Given the description of an element on the screen output the (x, y) to click on. 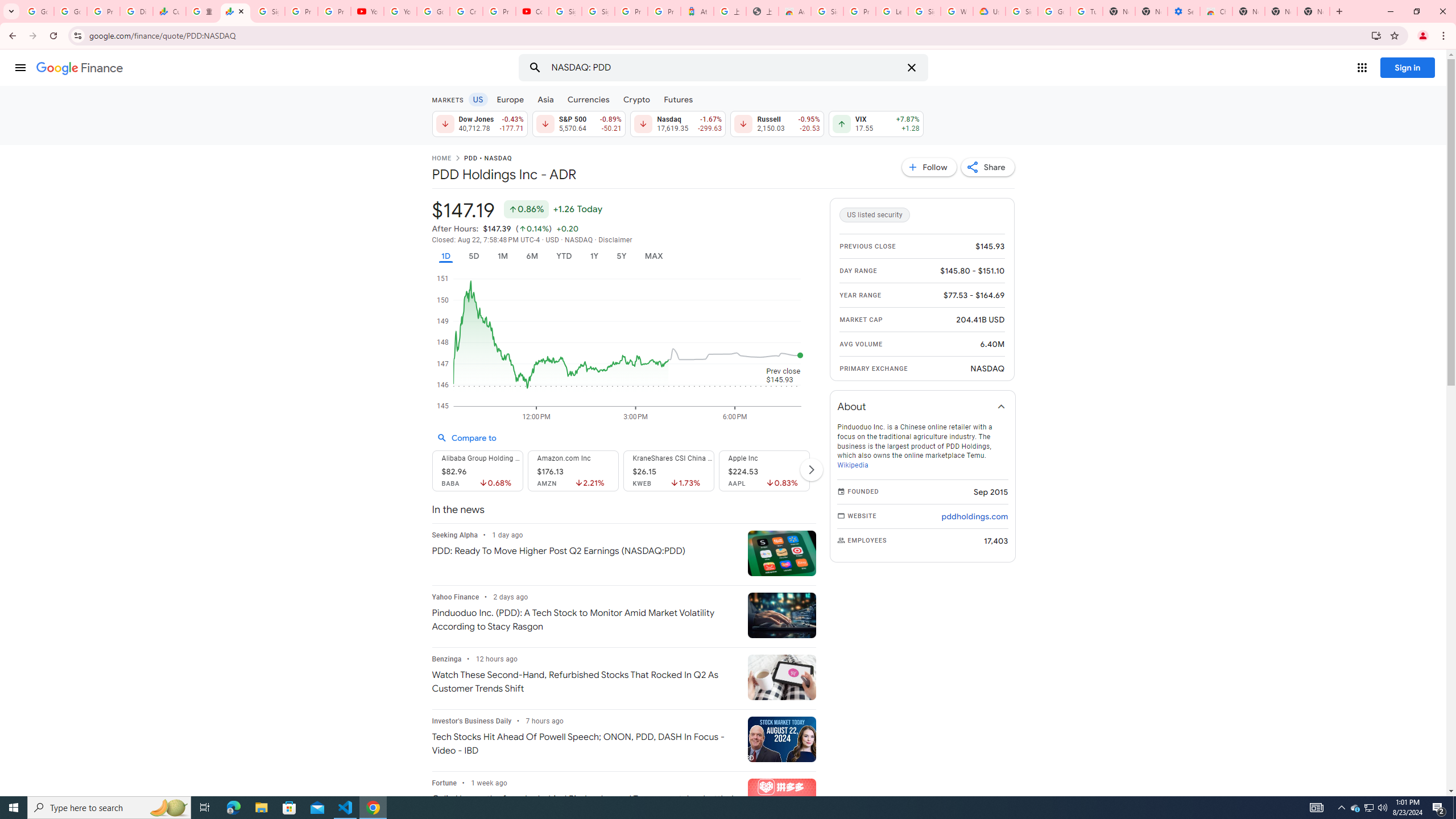
Sign in - Google Accounts (827, 11)
Futures (678, 99)
Turn cookies on or off - Computer - Google Account Help (1086, 11)
New Tab (1313, 11)
Content Creator Programs & Opportunities - YouTube Creators (532, 11)
Asia (545, 99)
